Given the description of an element on the screen output the (x, y) to click on. 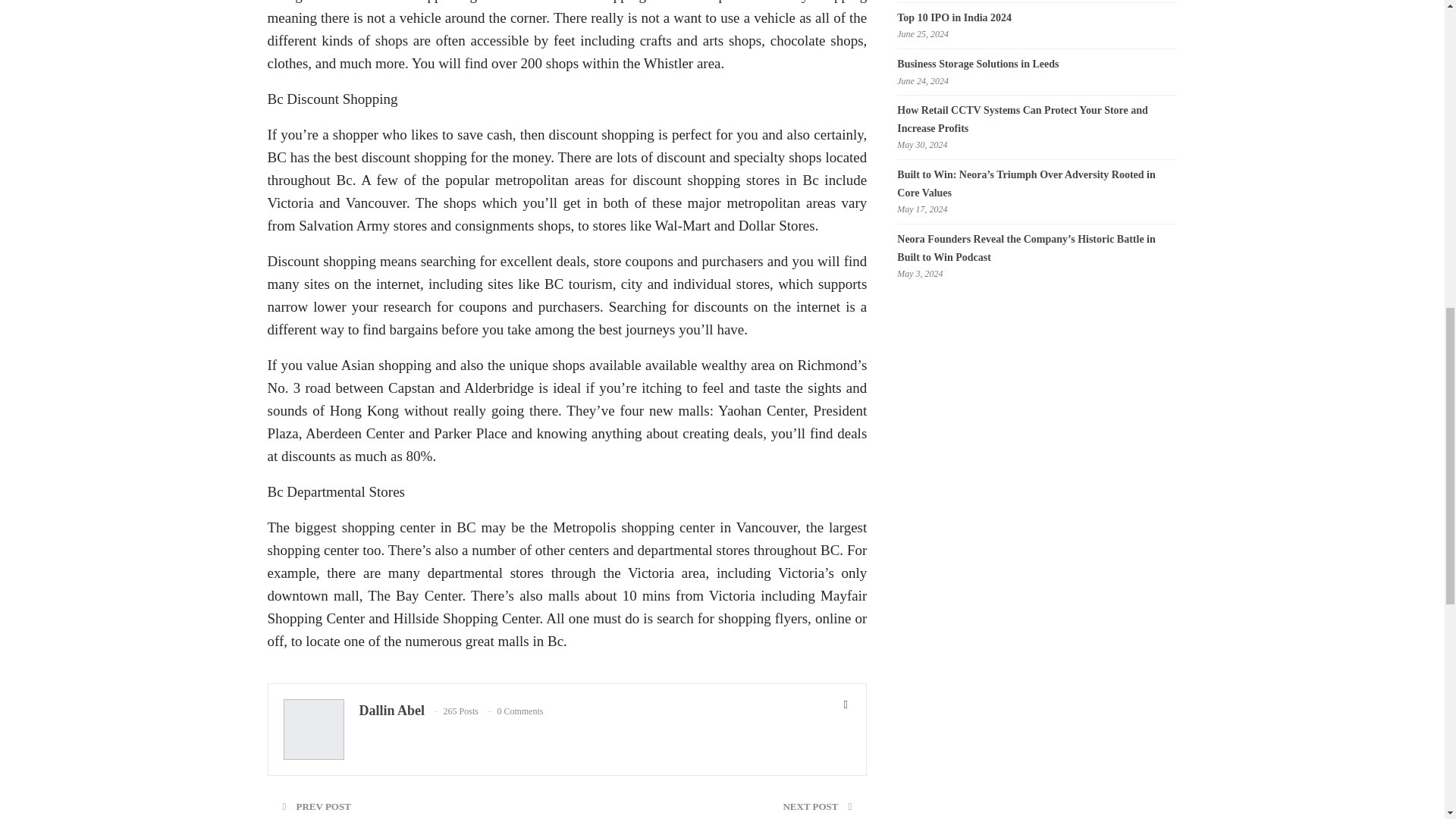
Dallin Abel (392, 710)
